Given the description of an element on the screen output the (x, y) to click on. 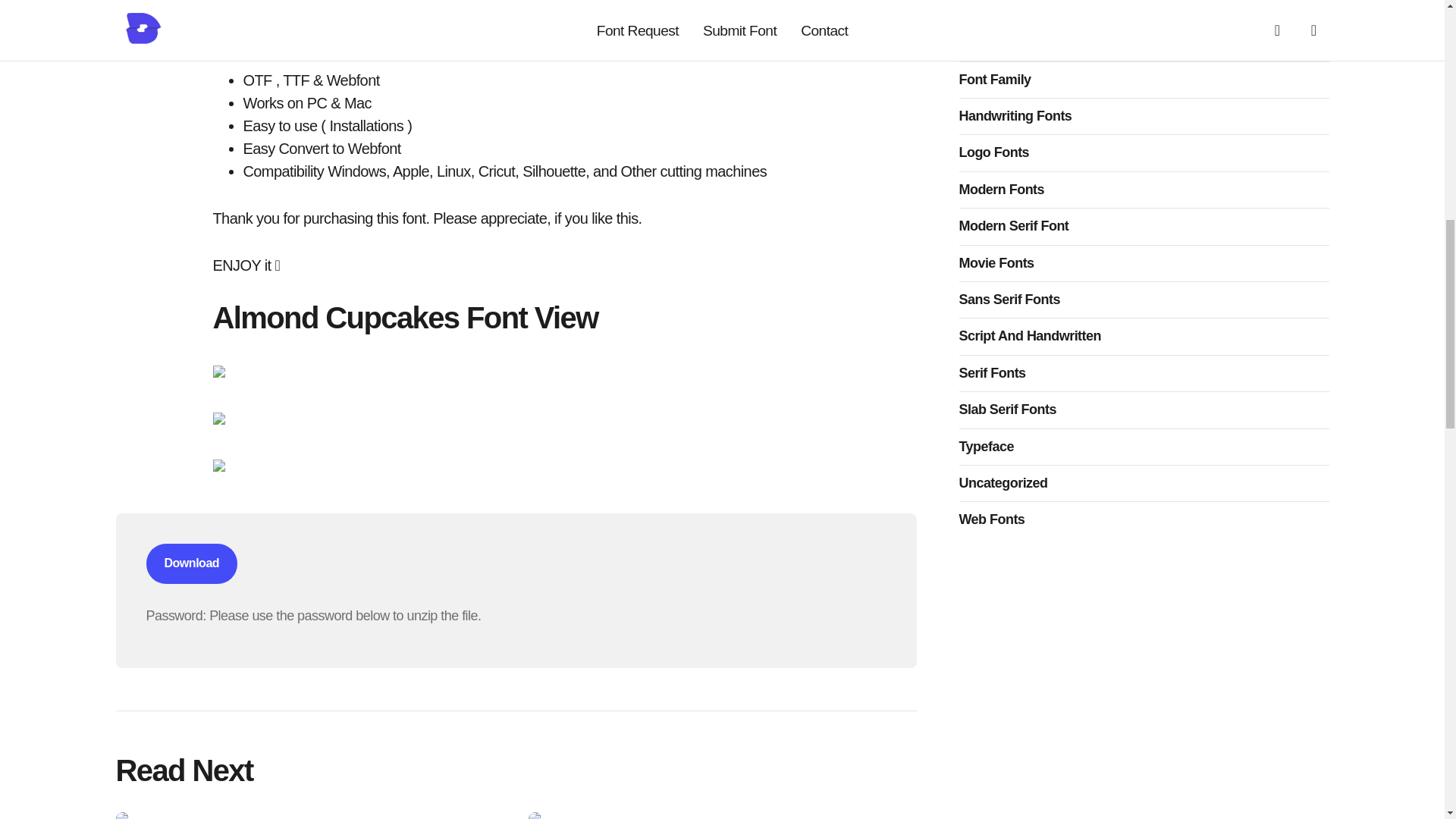
Download (191, 563)
Baffon Modern Font (309, 815)
Bhonitta Script Font (721, 815)
